Given the description of an element on the screen output the (x, y) to click on. 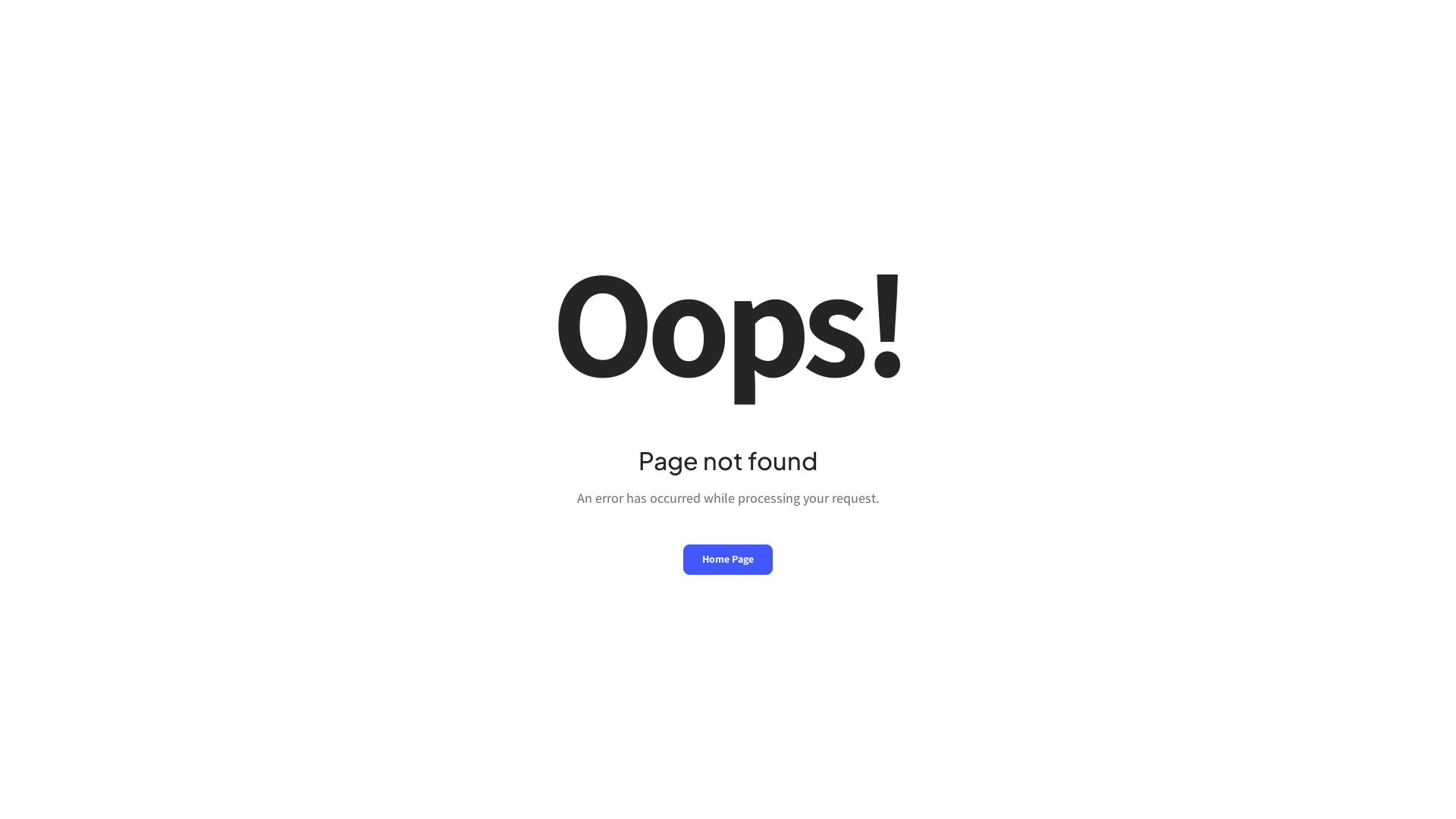
Home Page Element type: text (727, 559)
